Given the description of an element on the screen output the (x, y) to click on. 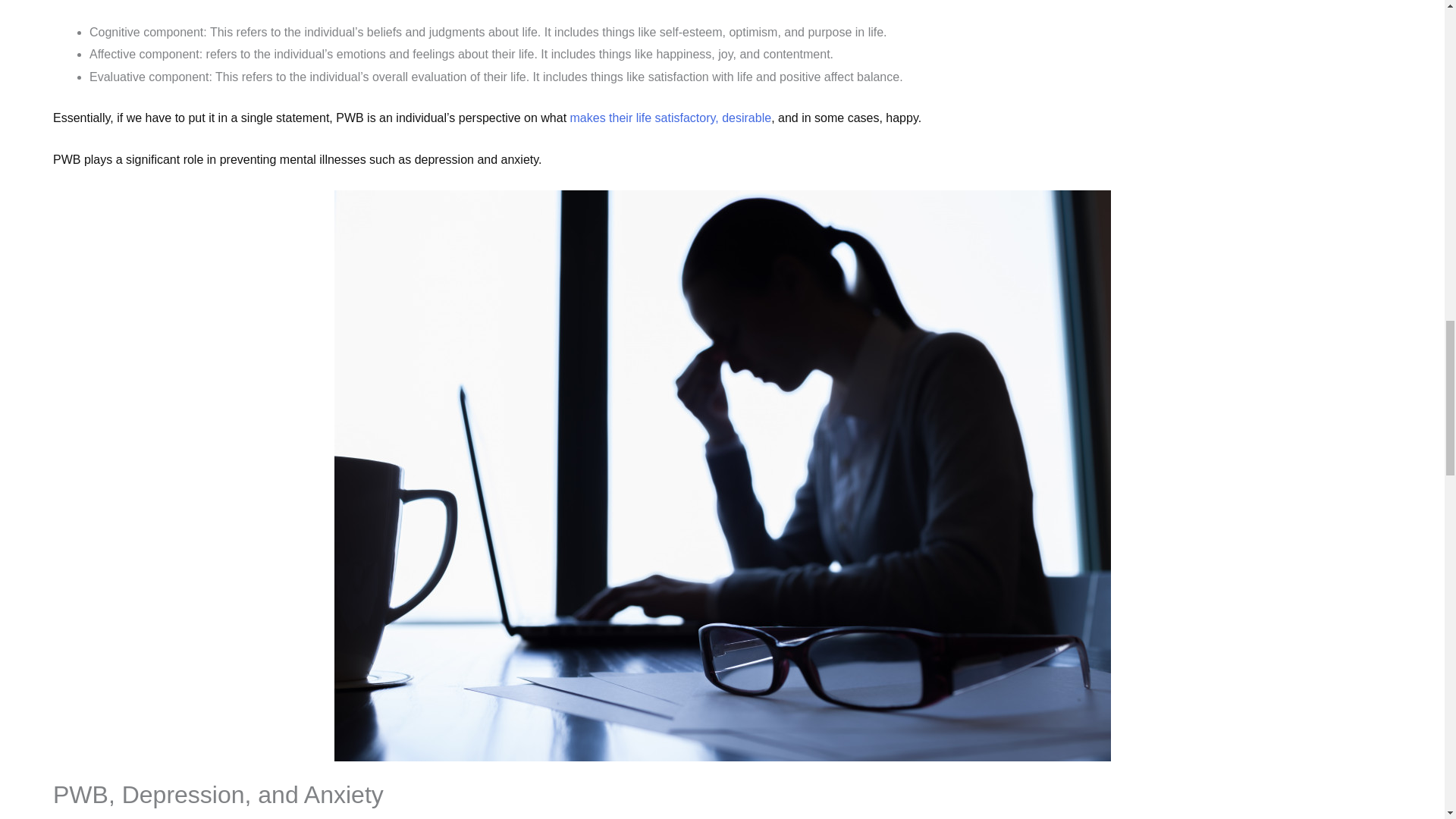
makes their life satisfactory, desirable (670, 117)
